Given the description of an element on the screen output the (x, y) to click on. 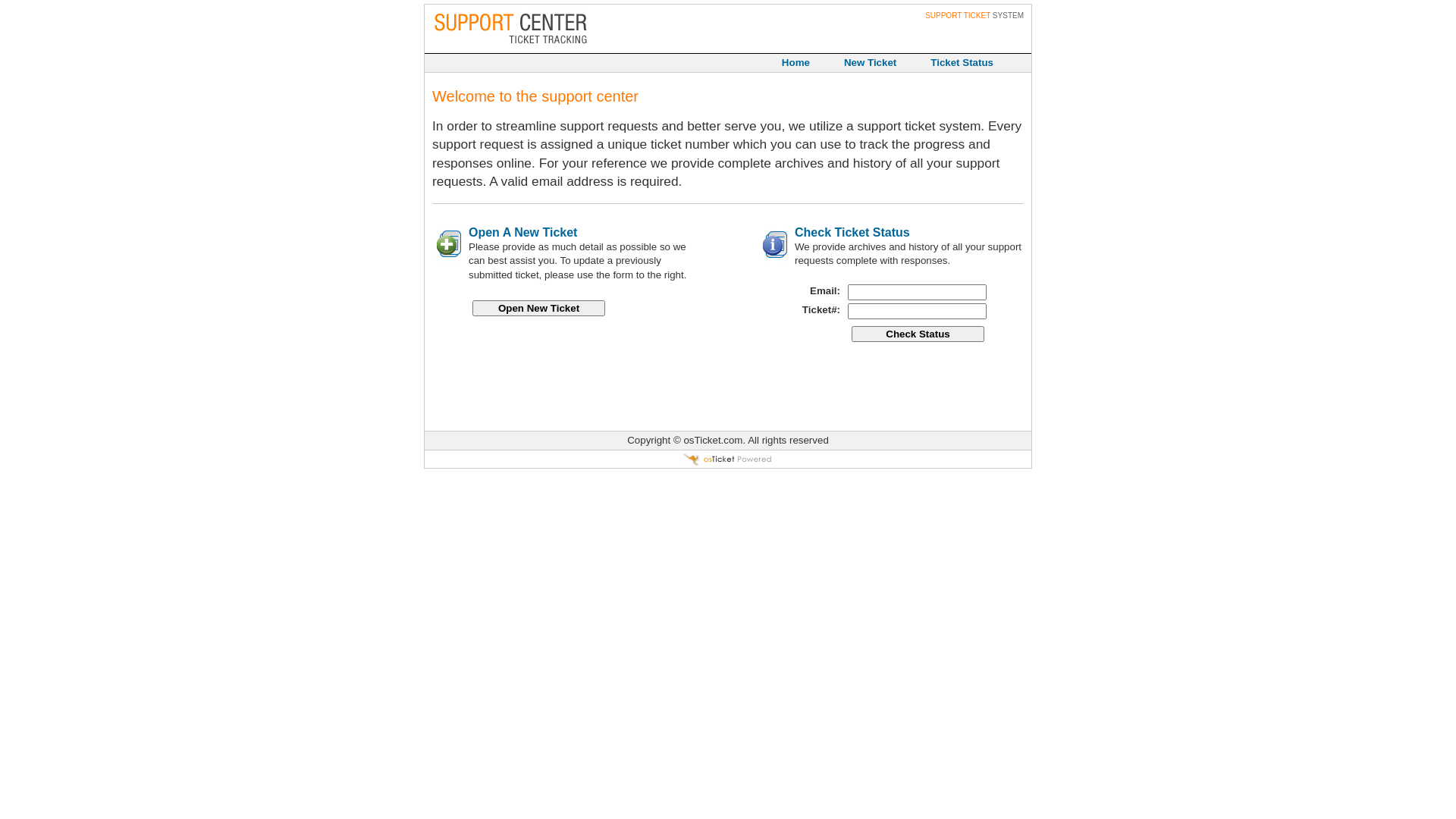
New Ticket Element type: text (860, 62)
Ticket Status Element type: text (952, 62)
Home Element type: text (785, 62)
Check Status Element type: text (917, 334)
Open New Ticket Element type: text (538, 308)
Support Center Element type: hover (508, 28)
